Given the description of an element on the screen output the (x, y) to click on. 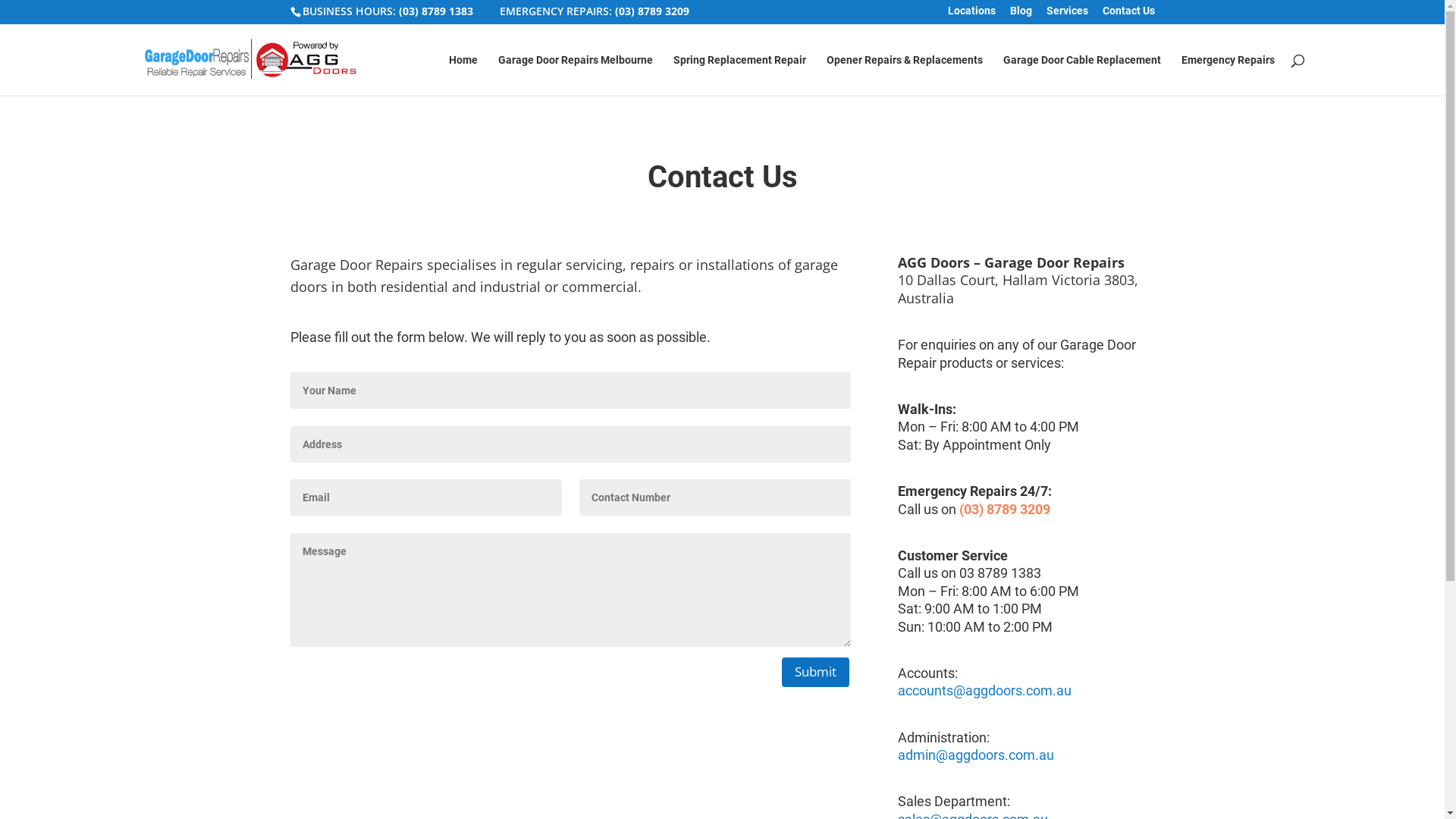
(03) 8789 3209 Element type: text (651, 10)
Garage Door Cable Replacement Element type: text (1081, 74)
Garage Door Repairs Melbourne Element type: text (574, 74)
Services Element type: text (1067, 14)
Locations Element type: text (971, 14)
Home Element type: text (462, 74)
Opener Repairs & Replacements Element type: text (904, 74)
Blog Element type: text (1021, 14)
Submit Element type: text (815, 671)
admin@aggdoors.com.au Element type: text (975, 754)
Contact Us Element type: text (1128, 14)
Emergency Repairs Element type: text (1227, 74)
accounts@aggdoors.com.au Element type: text (984, 690)
Spring Replacement Repair Element type: text (739, 74)
(03) 8789 1383 Element type: text (435, 10)
